Given the description of an element on the screen output the (x, y) to click on. 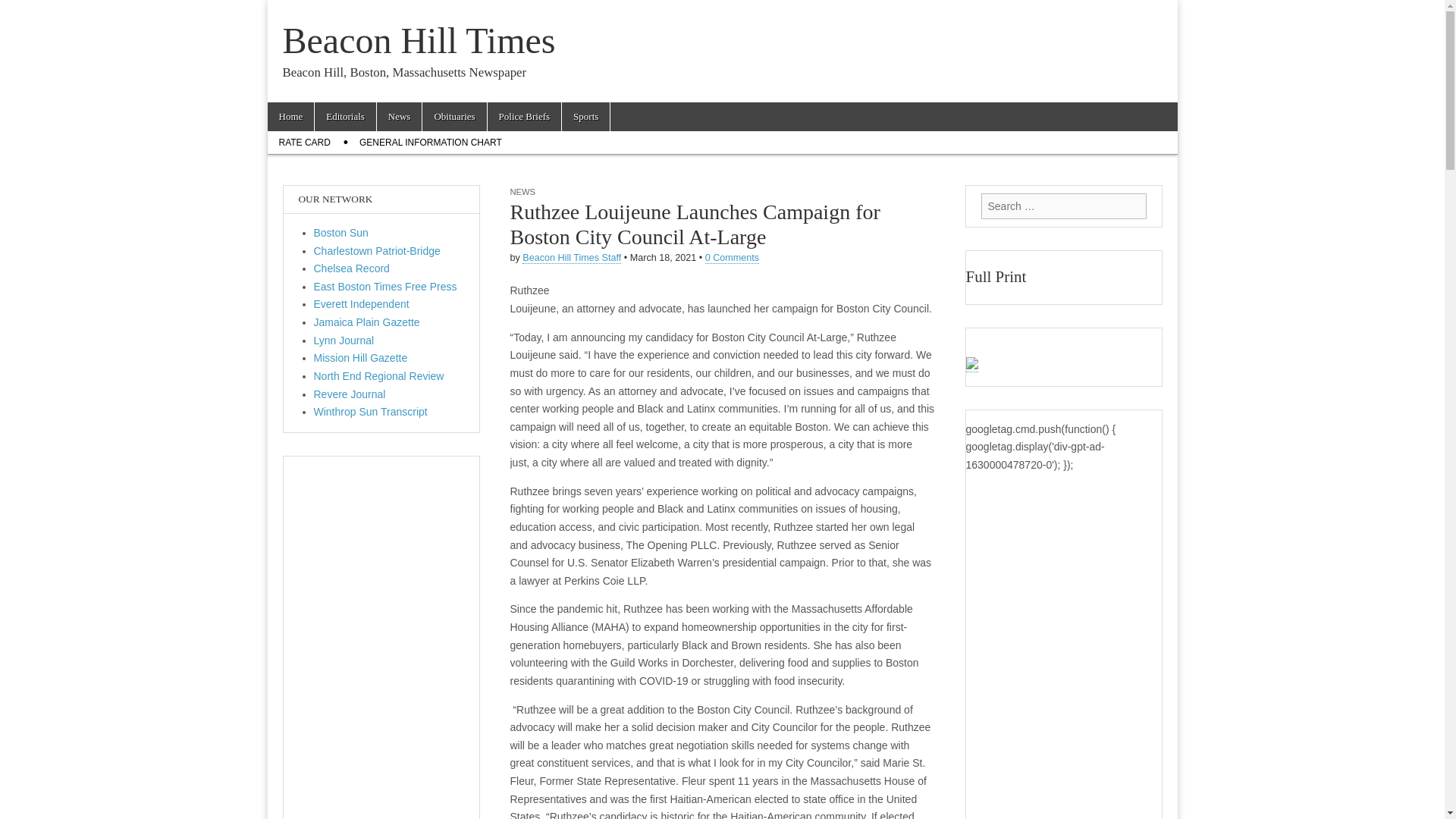
Home (290, 116)
Revere Journal (349, 394)
RATE CARD (303, 142)
North End Regional Review (379, 376)
Everett Independent (361, 304)
Boston Sun (341, 232)
East Boston Times Free Press (385, 286)
Obituaries (454, 116)
Posts by Beacon Hill Times Staff (571, 257)
Police Briefs (524, 116)
